Given the description of an element on the screen output the (x, y) to click on. 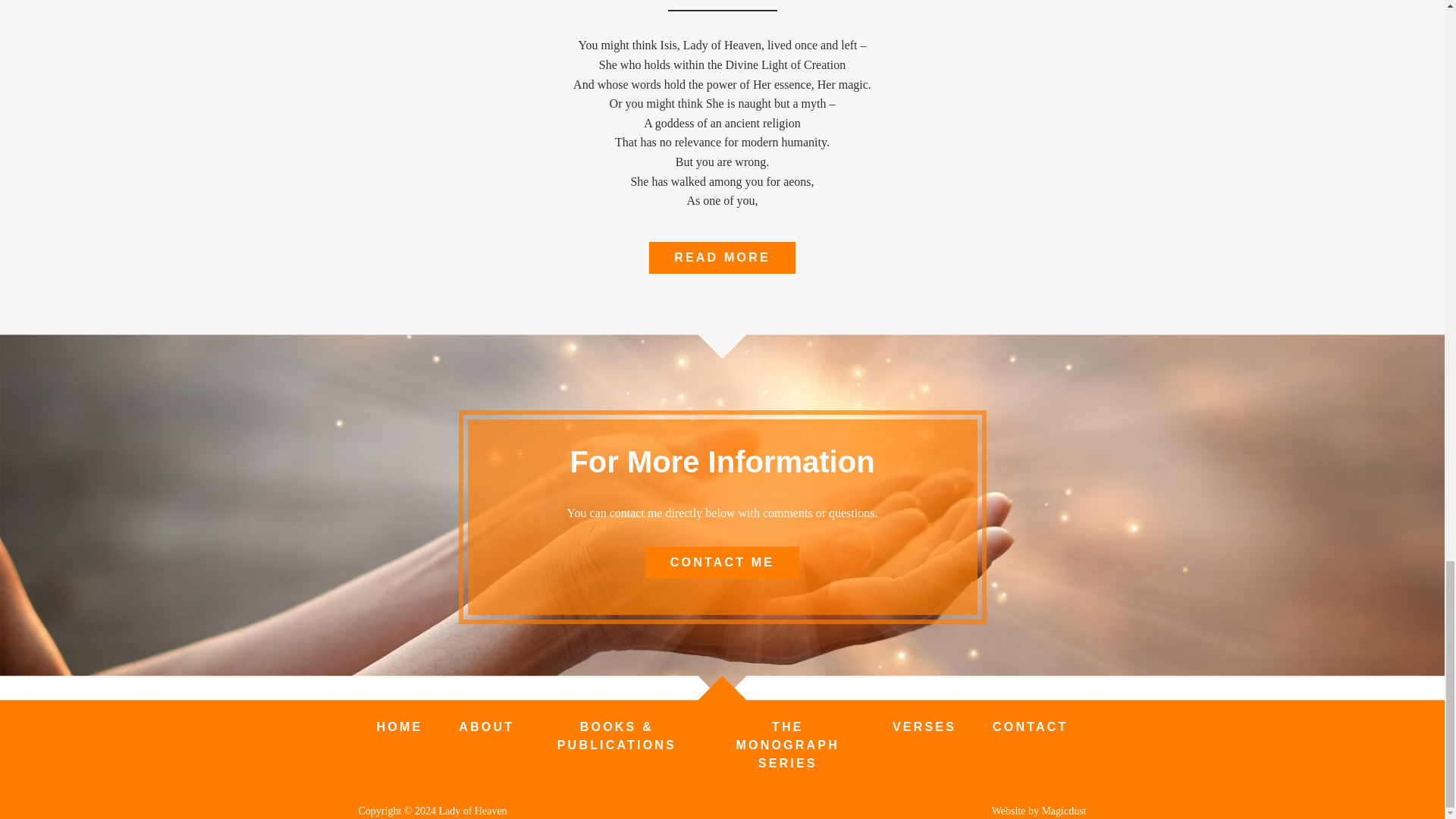
HOME (398, 726)
READ MORE (721, 257)
CONTACT ME (722, 562)
